Given the description of an element on the screen output the (x, y) to click on. 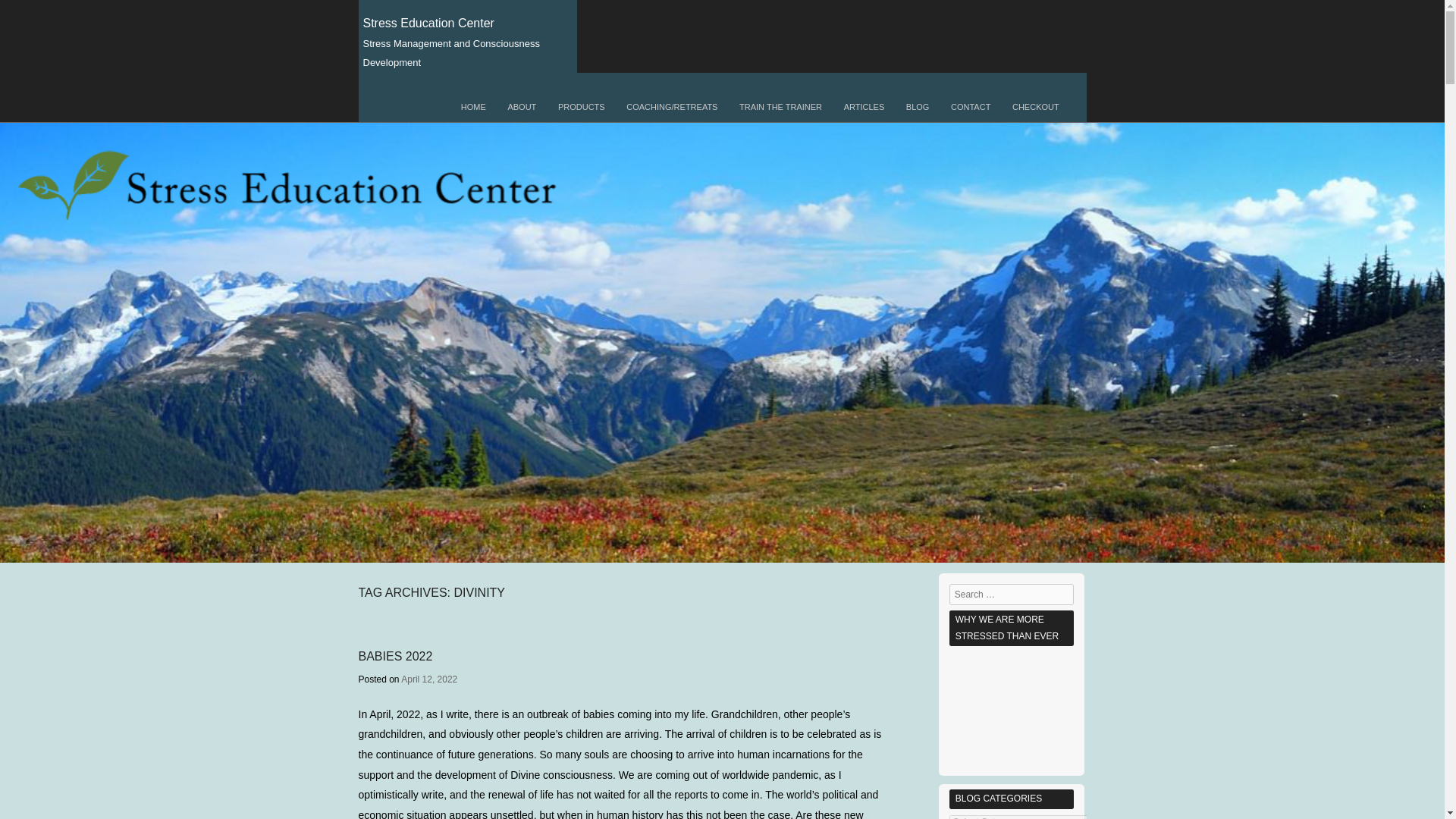
Stress Education Center (427, 22)
TRAIN THE TRAINER (780, 107)
PRODUCTS (581, 107)
ARTICLES (864, 107)
SKIP TO CONTENT (402, 101)
April 12, 2022 (429, 679)
4:32 AM (429, 679)
Stress Education Center (427, 22)
BABIES 2022 (395, 656)
HOME (473, 107)
ABOUT (521, 107)
Skip to content (402, 101)
BLOG (917, 107)
CONTACT (970, 107)
CHECKOUT (1035, 107)
